Given the description of an element on the screen output the (x, y) to click on. 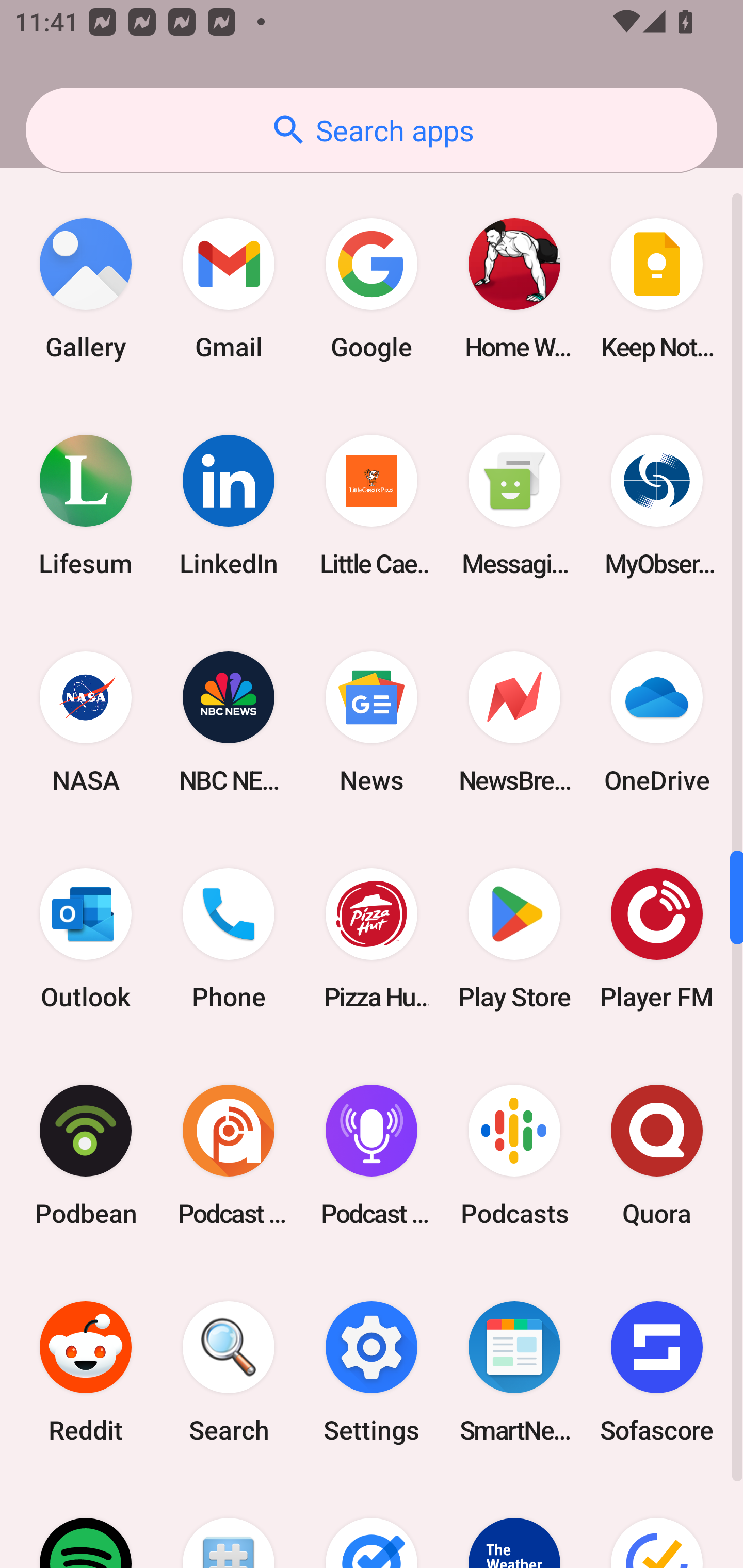
  Search apps (371, 130)
Gallery (85, 288)
Gmail (228, 288)
Google (371, 288)
Home Workout (514, 288)
Keep Notes (656, 288)
Lifesum (85, 504)
LinkedIn (228, 504)
Little Caesars Pizza (371, 504)
Messaging (514, 504)
MyObservatory (656, 504)
NASA (85, 722)
NBC NEWS (228, 722)
News (371, 722)
NewsBreak (514, 722)
OneDrive (656, 722)
Outlook (85, 939)
Phone (228, 939)
Pizza Hut HK & Macau (371, 939)
Play Store (514, 939)
Player FM (656, 939)
Podbean (85, 1155)
Podcast Addict (228, 1155)
Podcast Player (371, 1155)
Podcasts (514, 1155)
Quora (656, 1155)
Reddit (85, 1371)
Search (228, 1371)
Settings (371, 1371)
SmartNews (514, 1371)
Sofascore (656, 1371)
Spotify (85, 1524)
Superuser (228, 1524)
Tasks (371, 1524)
The Weather Channel (514, 1524)
TickTick (656, 1524)
